Given the description of an element on the screen output the (x, y) to click on. 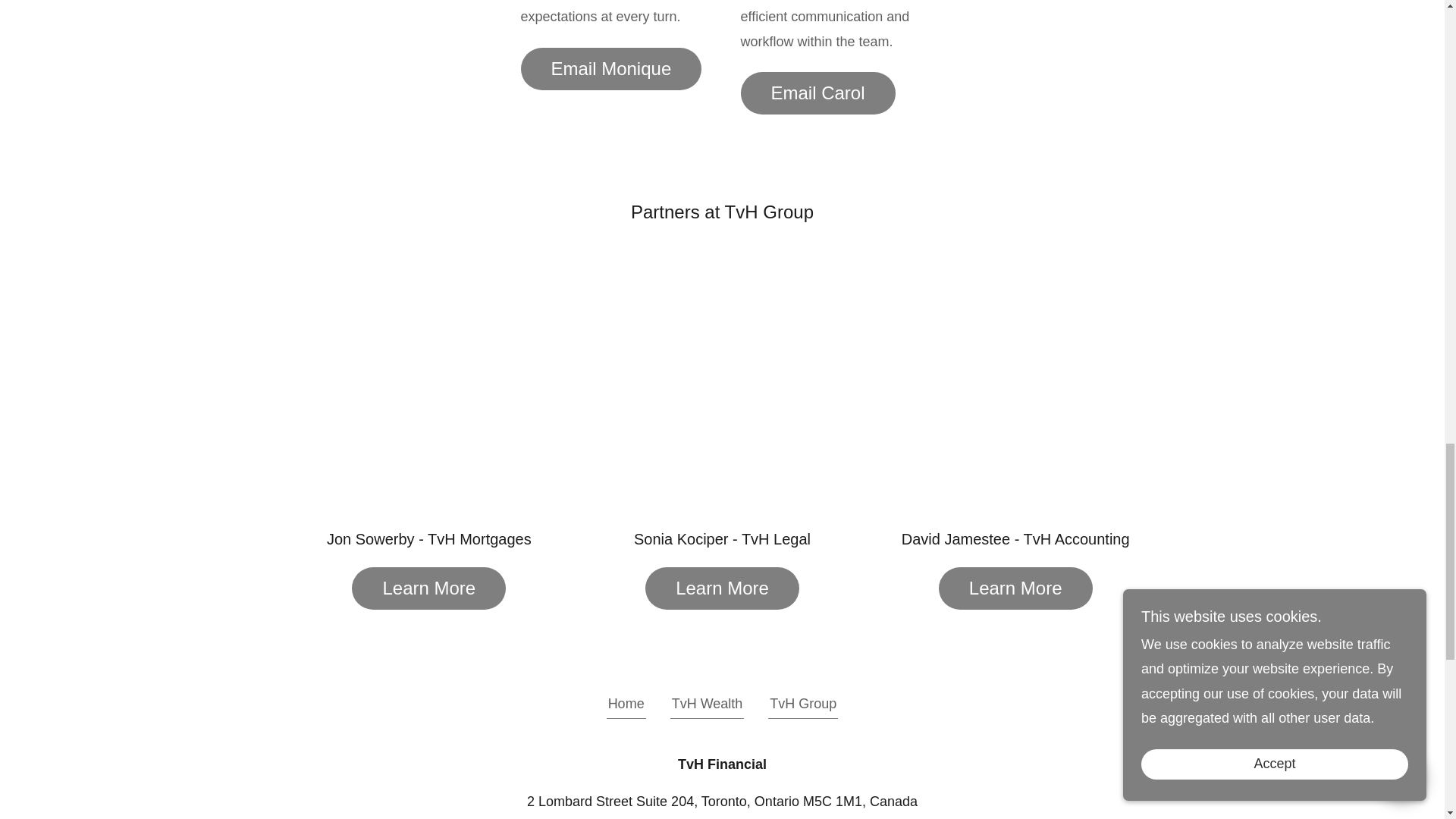
Learn More (722, 588)
TvH Wealth (706, 706)
TvH Group (803, 706)
Learn More (428, 588)
Email Carol (817, 93)
Home (626, 706)
Learn More (1016, 588)
Email Monique (610, 68)
